Given the description of an element on the screen output the (x, y) to click on. 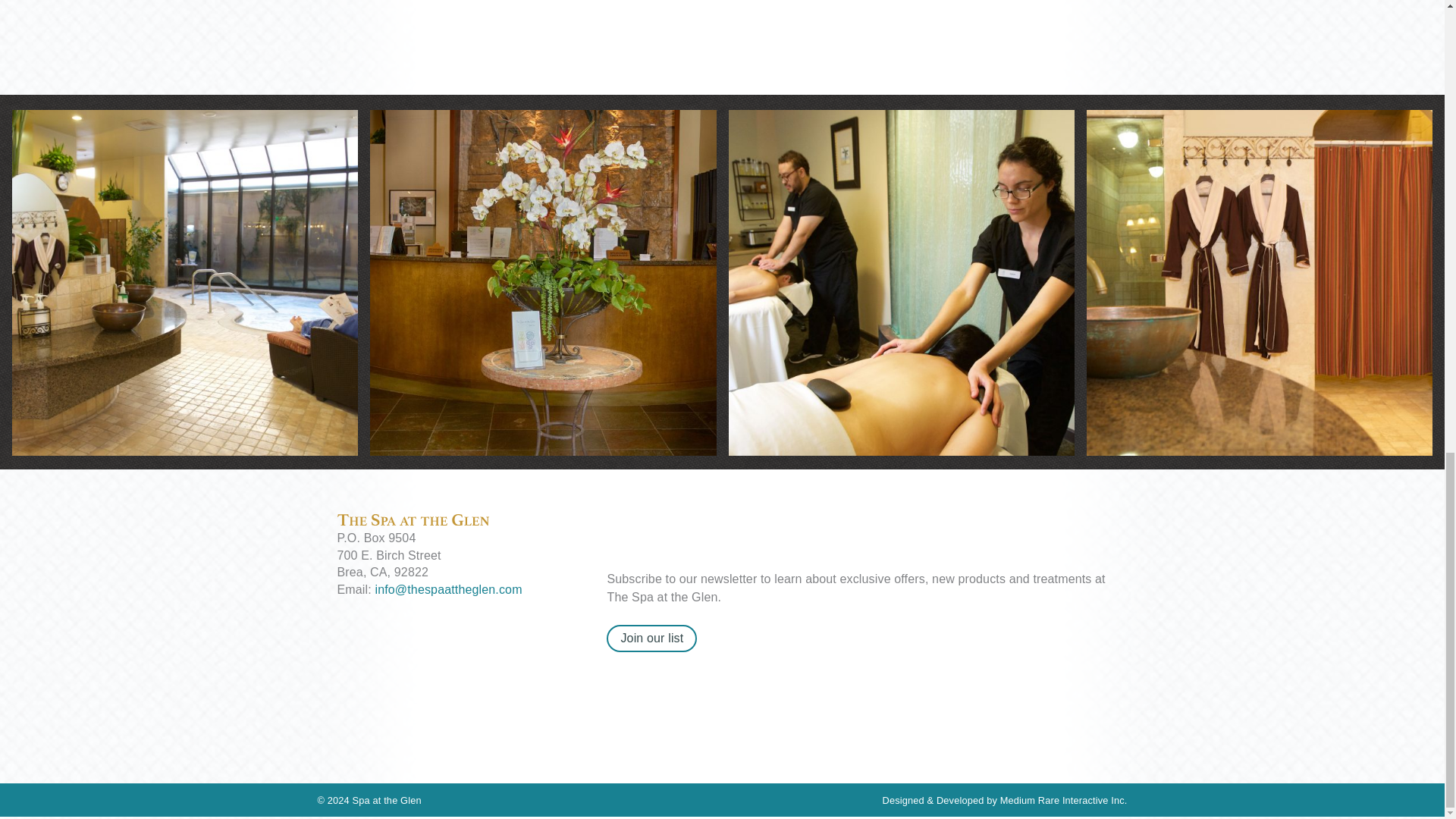
Send Us An Email (447, 588)
Spa at the Glen (387, 799)
Join our list (652, 637)
Medium Rare Interactive Inc. (1063, 799)
